Given the description of an element on the screen output the (x, y) to click on. 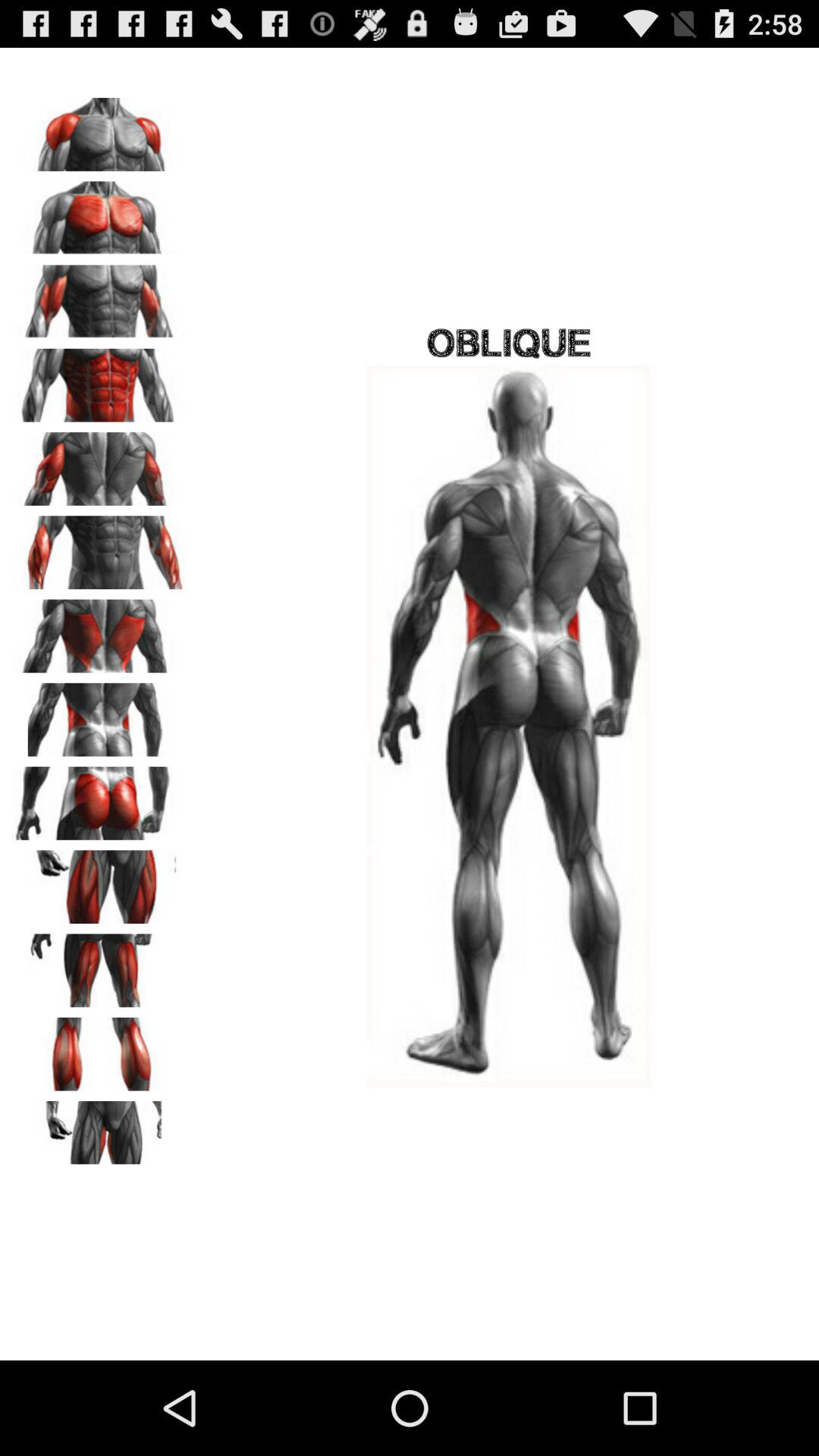
select shoulder (99, 129)
